Given the description of an element on the screen output the (x, y) to click on. 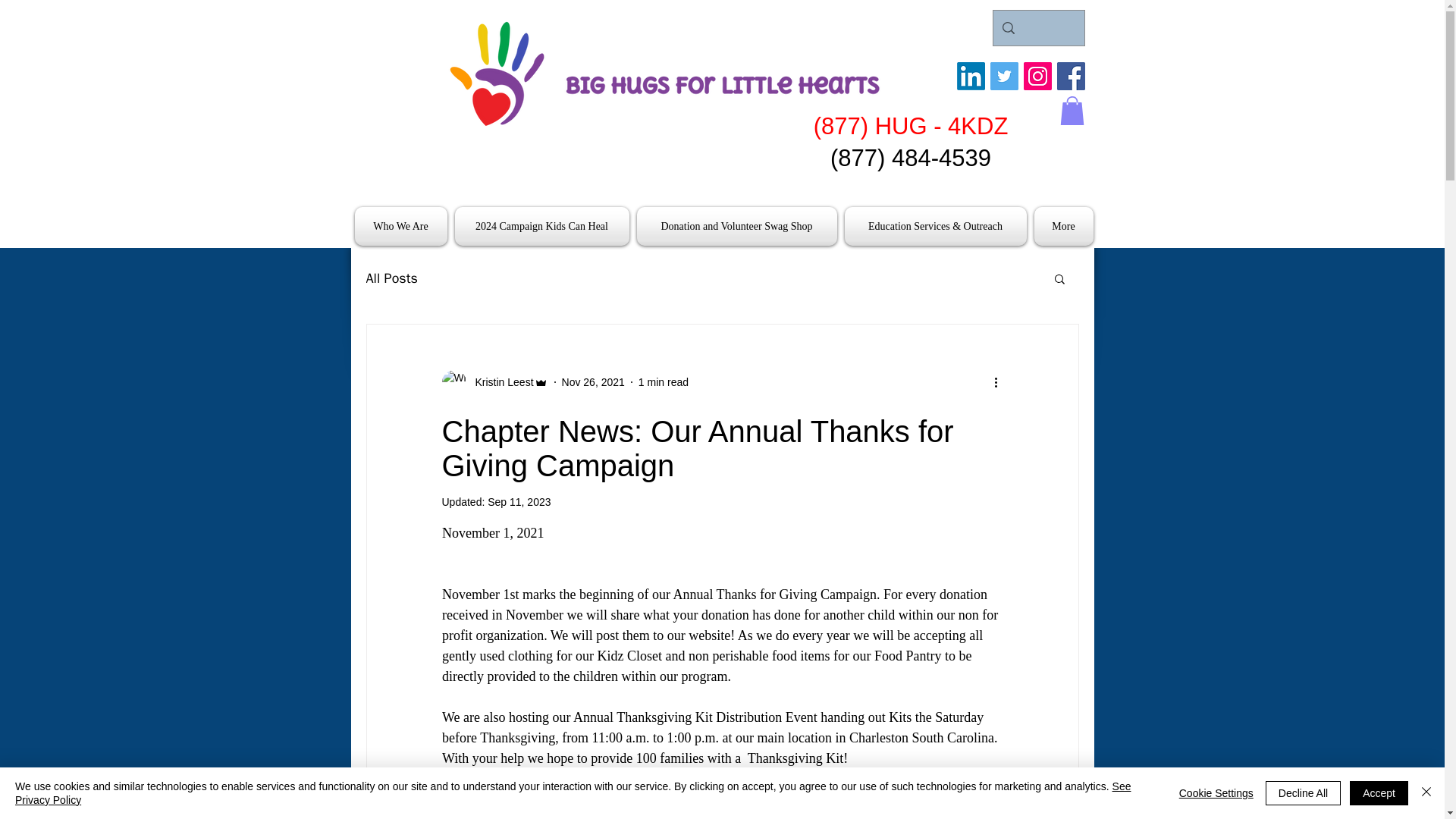
Kristin Leest (498, 382)
1 min read (663, 381)
Nov 26, 2021 (593, 381)
Sep 11, 2023 (518, 501)
2024 Campaign Kids Can Heal (540, 226)
Who We Are (403, 226)
Donation and Volunteer Swag Shop (735, 226)
